Given the description of an element on the screen output the (x, y) to click on. 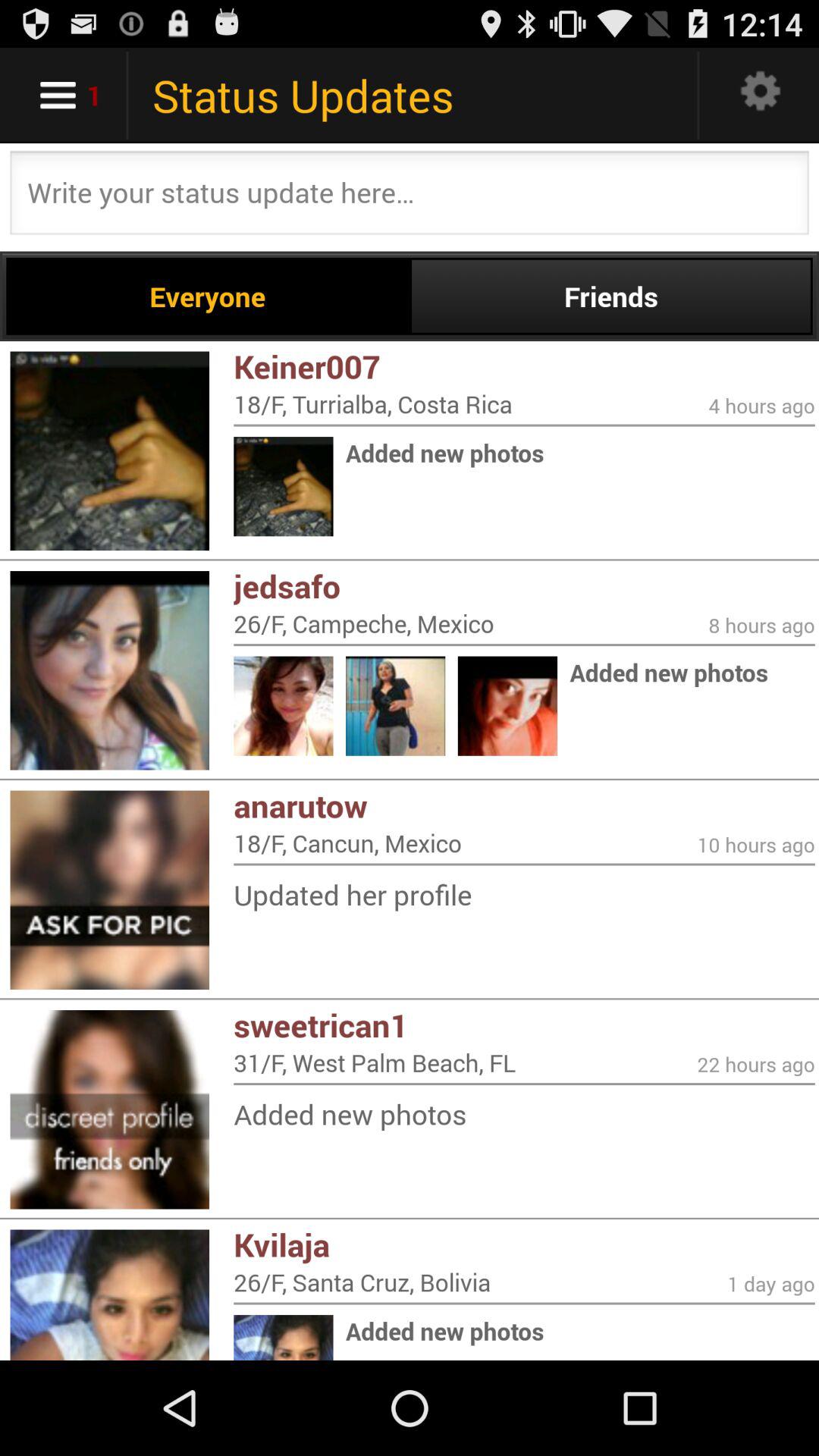
choose the everyone item (207, 295)
